Given the description of an element on the screen output the (x, y) to click on. 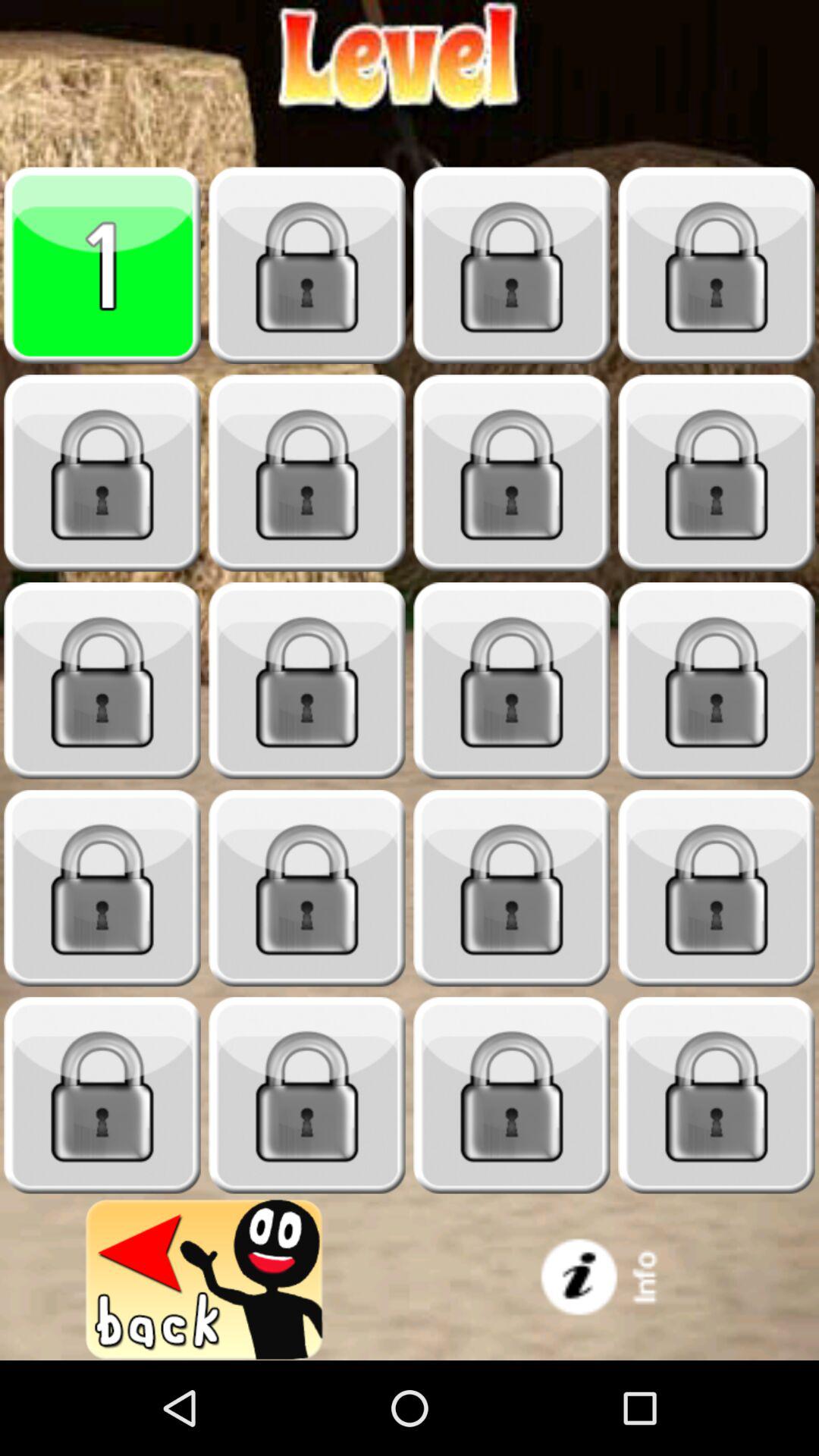
lock button (716, 265)
